Given the description of an element on the screen output the (x, y) to click on. 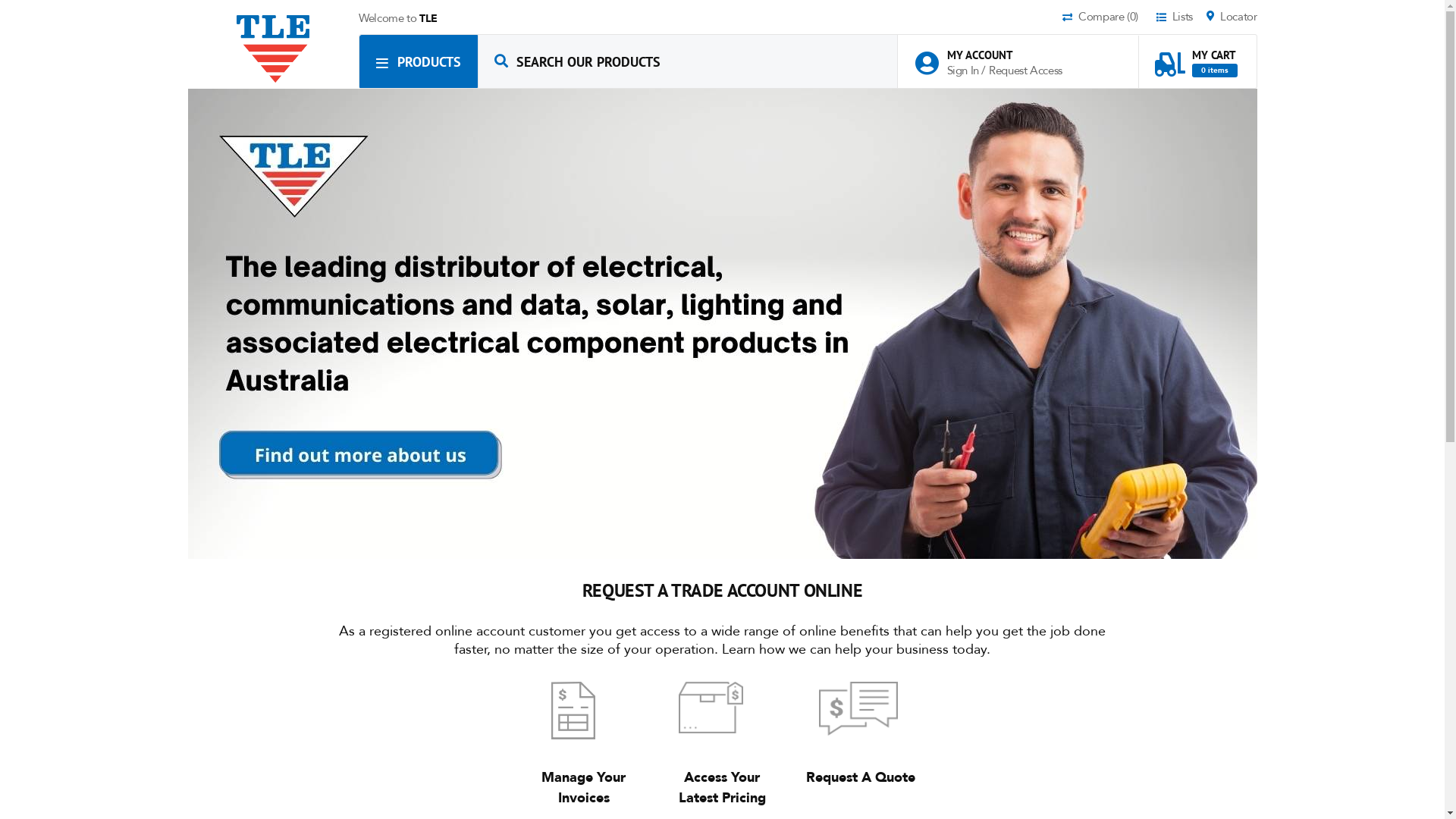
Lists Element type: text (1179, 17)
TLE Electrical Element type: hover (272, 49)
MY ACCOUNT Element type: text (995, 54)
Search Element type: text (501, 60)
Locator Element type: text (1231, 17)
Request Access Element type: text (1025, 70)
Sign In Element type: text (963, 70)
MY CART
0 items Element type: text (1195, 55)
TLE Electrical Element type: hover (273, 49)
Compare 0 Element type: text (1107, 17)
